Given the description of an element on the screen output the (x, y) to click on. 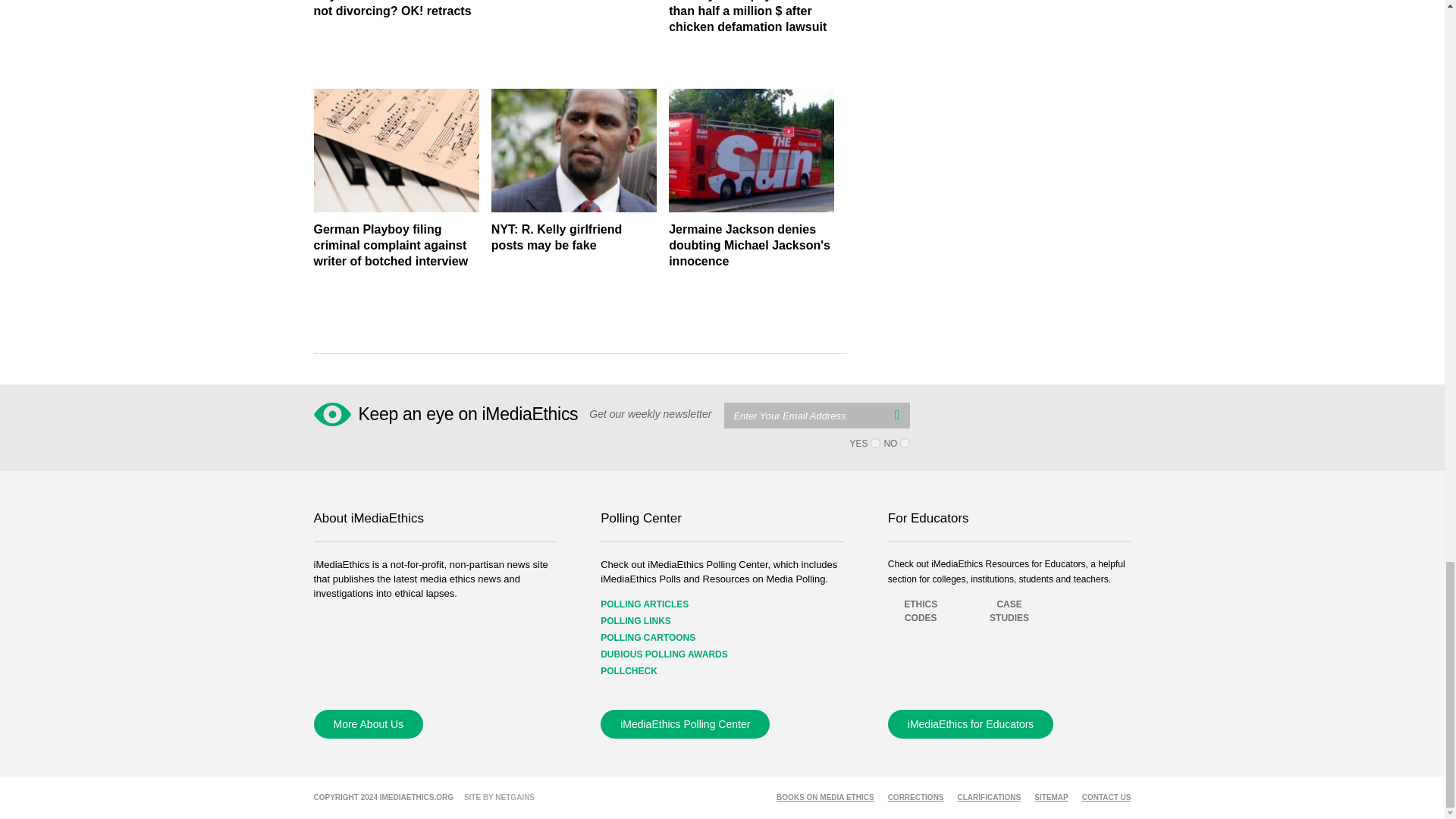
Yes (875, 442)
No (904, 442)
Submit (896, 414)
